Given the description of an element on the screen output the (x, y) to click on. 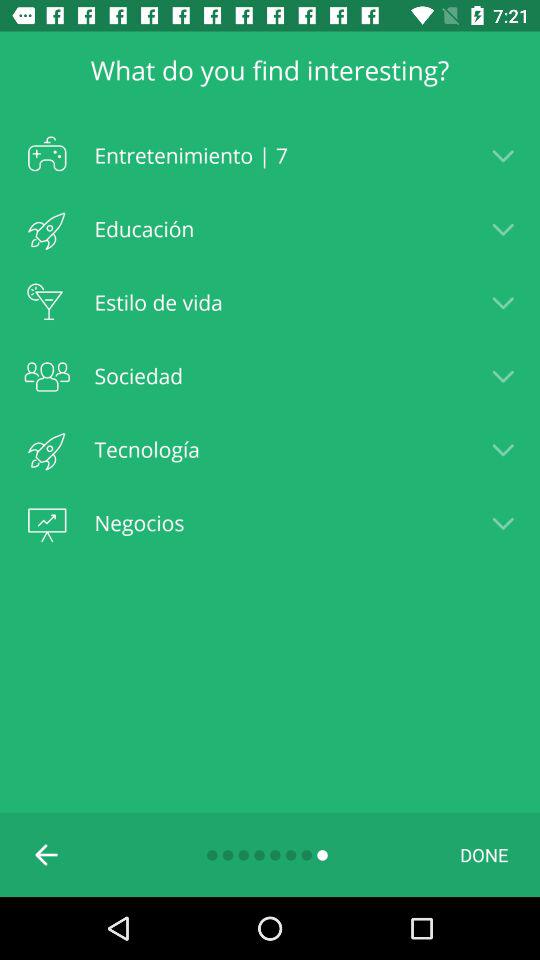
turn on item at the bottom left corner (47, 854)
